Given the description of an element on the screen output the (x, y) to click on. 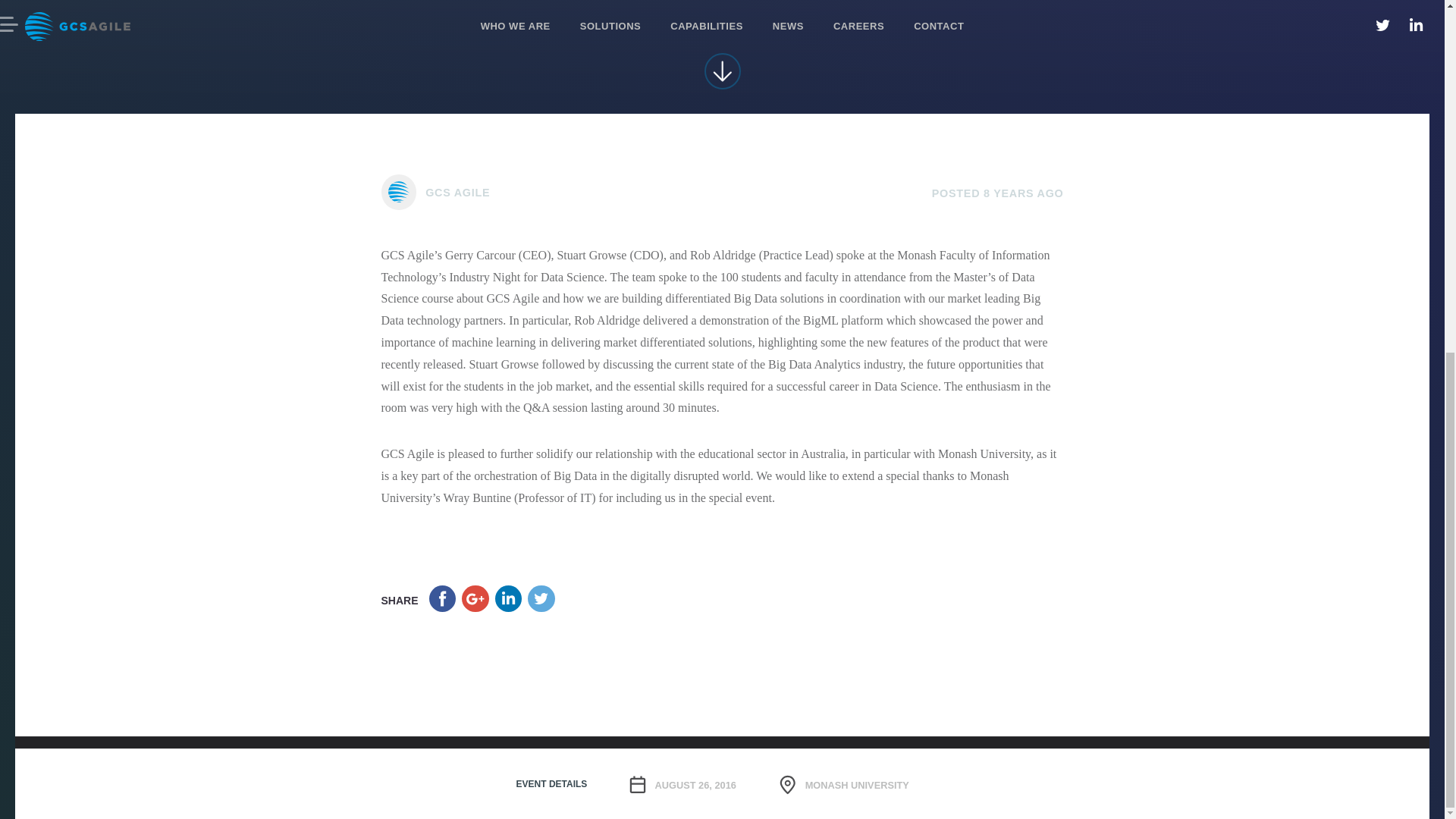
GET IN TOUCH (721, 769)
Google Plus Share (475, 598)
Linkedin Share (508, 598)
Twitter Share (540, 598)
Facebook Share (443, 598)
